Given the description of an element on the screen output the (x, y) to click on. 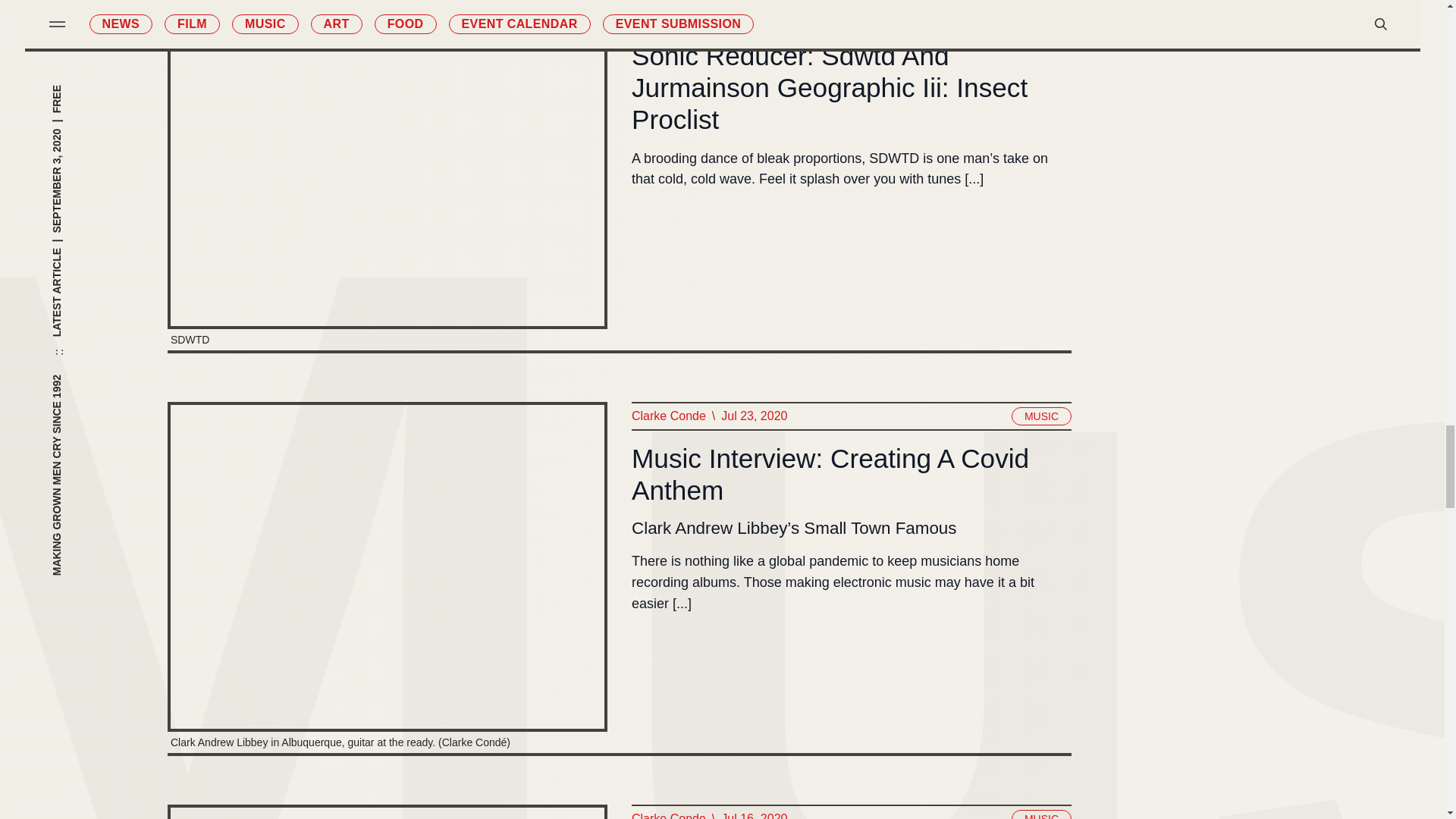
Clarke Conde (667, 415)
MUSIC (1040, 814)
Clarke Conde (667, 813)
Clarke Conde (667, 13)
MUSIC (1040, 416)
MUSIC (1040, 13)
